Given the description of an element on the screen output the (x, y) to click on. 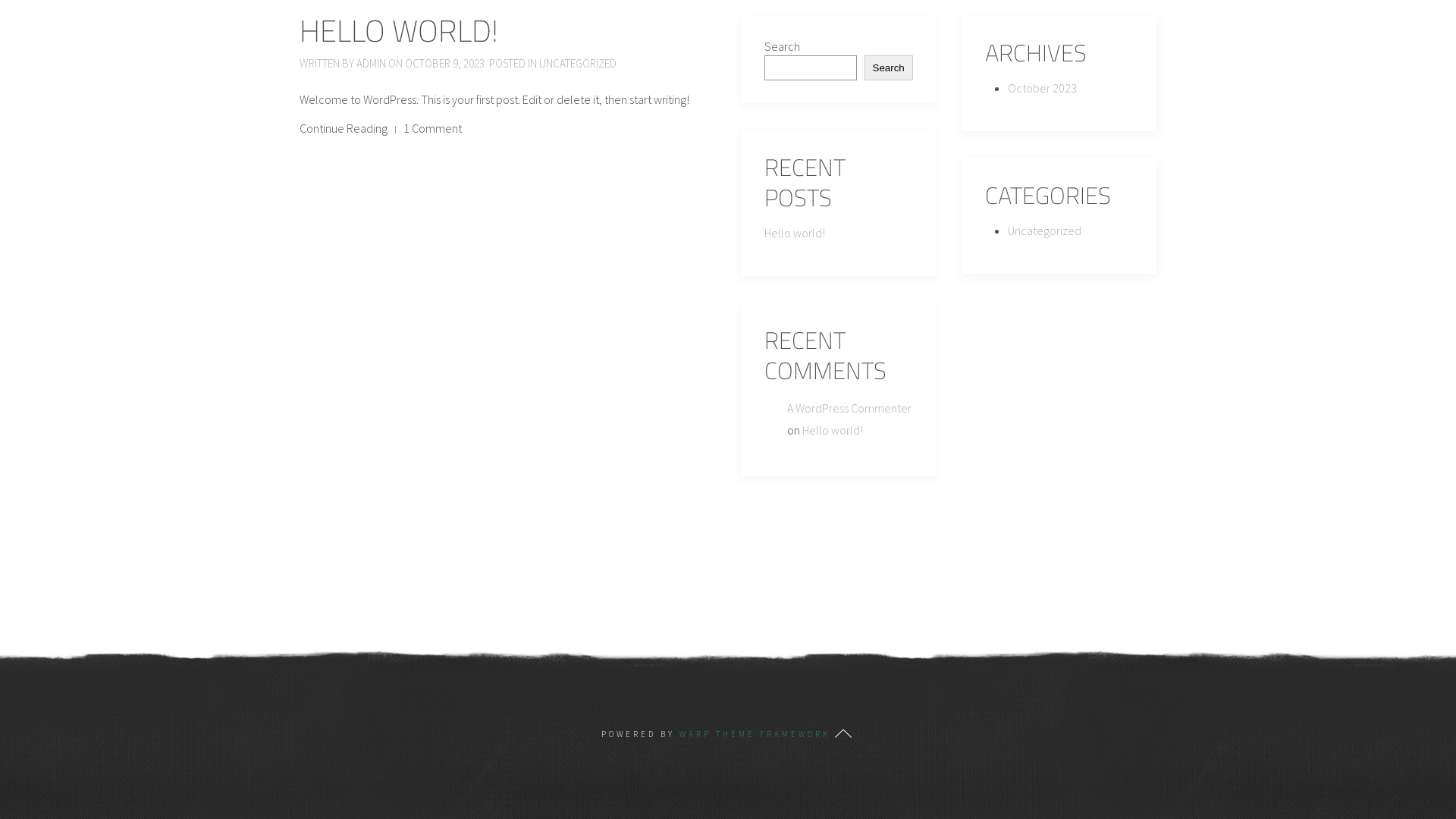
Continue Reading Element type: text (343, 128)
1 Comment Element type: text (432, 128)
ADMIN Element type: text (370, 63)
Hello world! Element type: text (832, 429)
WARP THEME FRAMEWORK Element type: text (754, 733)
HELLO WORLD! Element type: text (398, 30)
A WordPress Commenter Element type: text (849, 407)
October 2023 Element type: text (1041, 87)
UNCATEGORIZED Element type: text (577, 63)
Search Element type: text (888, 67)
Uncategorized Element type: text (1044, 230)
Hello world! Element type: text (794, 232)
